Given the description of an element on the screen output the (x, y) to click on. 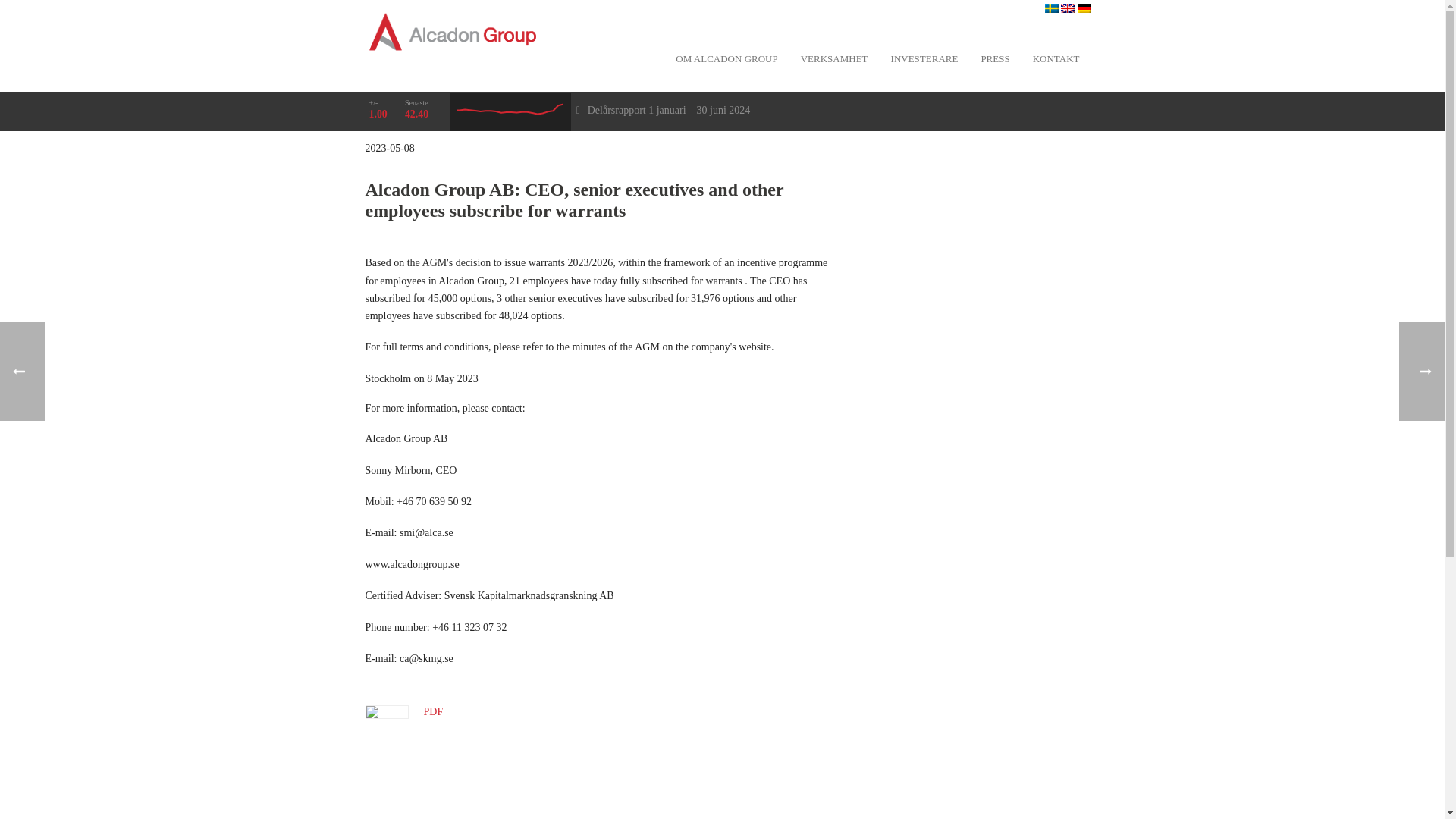
VERKSAMHET (834, 57)
VERKSAMHET (834, 57)
Linkedin (377, 810)
INVESTERARE (924, 57)
OM ALCADON GROUP (726, 57)
E-post (412, 810)
Twitter (482, 810)
OM ALCADON GROUP (726, 57)
KONTAKT (1056, 57)
INVESTERARE (924, 57)
